Given the description of an element on the screen output the (x, y) to click on. 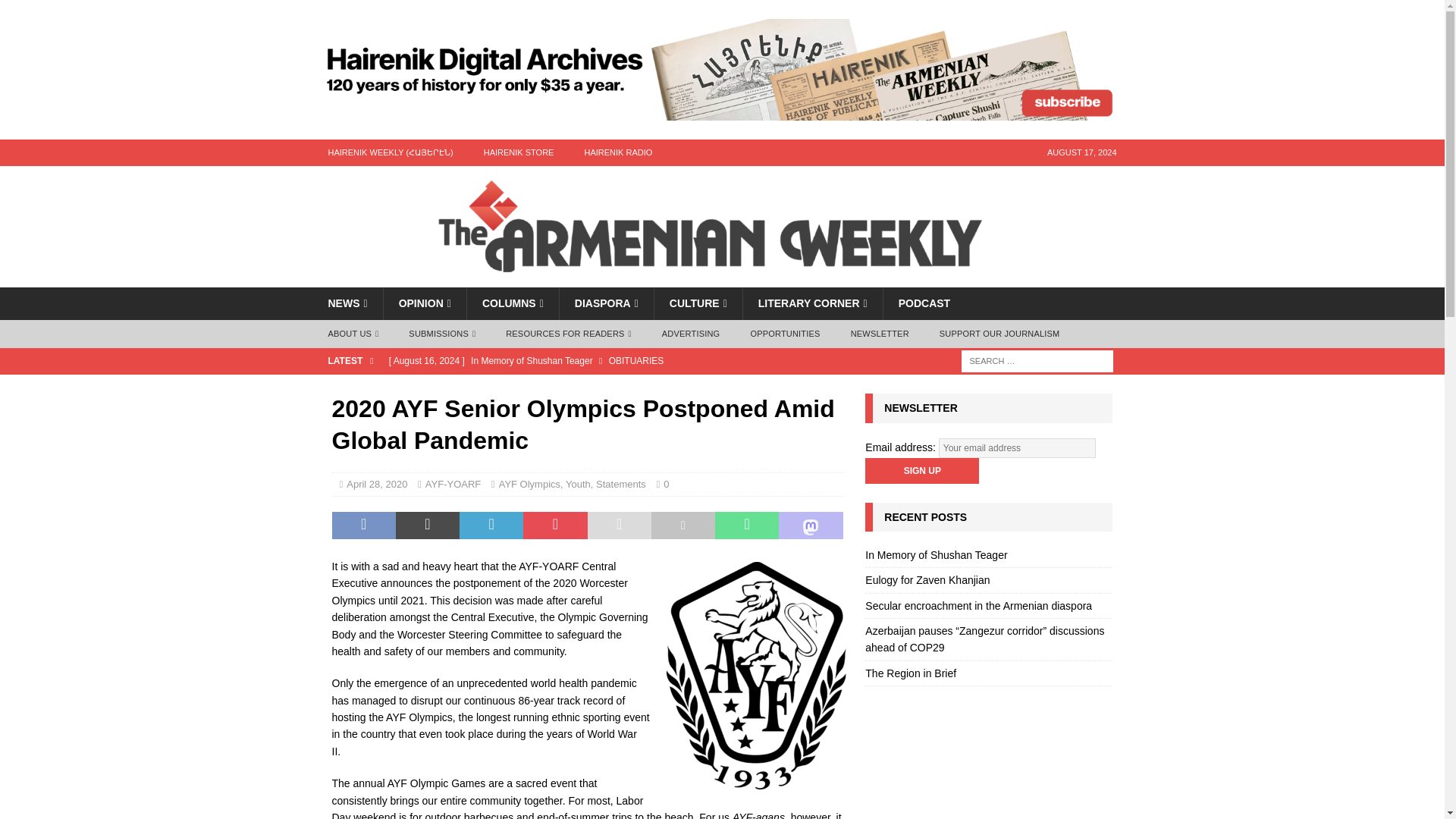
HAIRENIK STORE (518, 152)
HAIRENIK RADIO (617, 152)
COLUMNS (512, 303)
In Memory of Shushan Teager (612, 360)
Eulogy for Zaven Khanjian (612, 386)
OPINION (423, 303)
Print this article (682, 524)
Send this article to a friend (619, 524)
Share on Facebook (363, 524)
Pin This Post (554, 524)
